Given the description of an element on the screen output the (x, y) to click on. 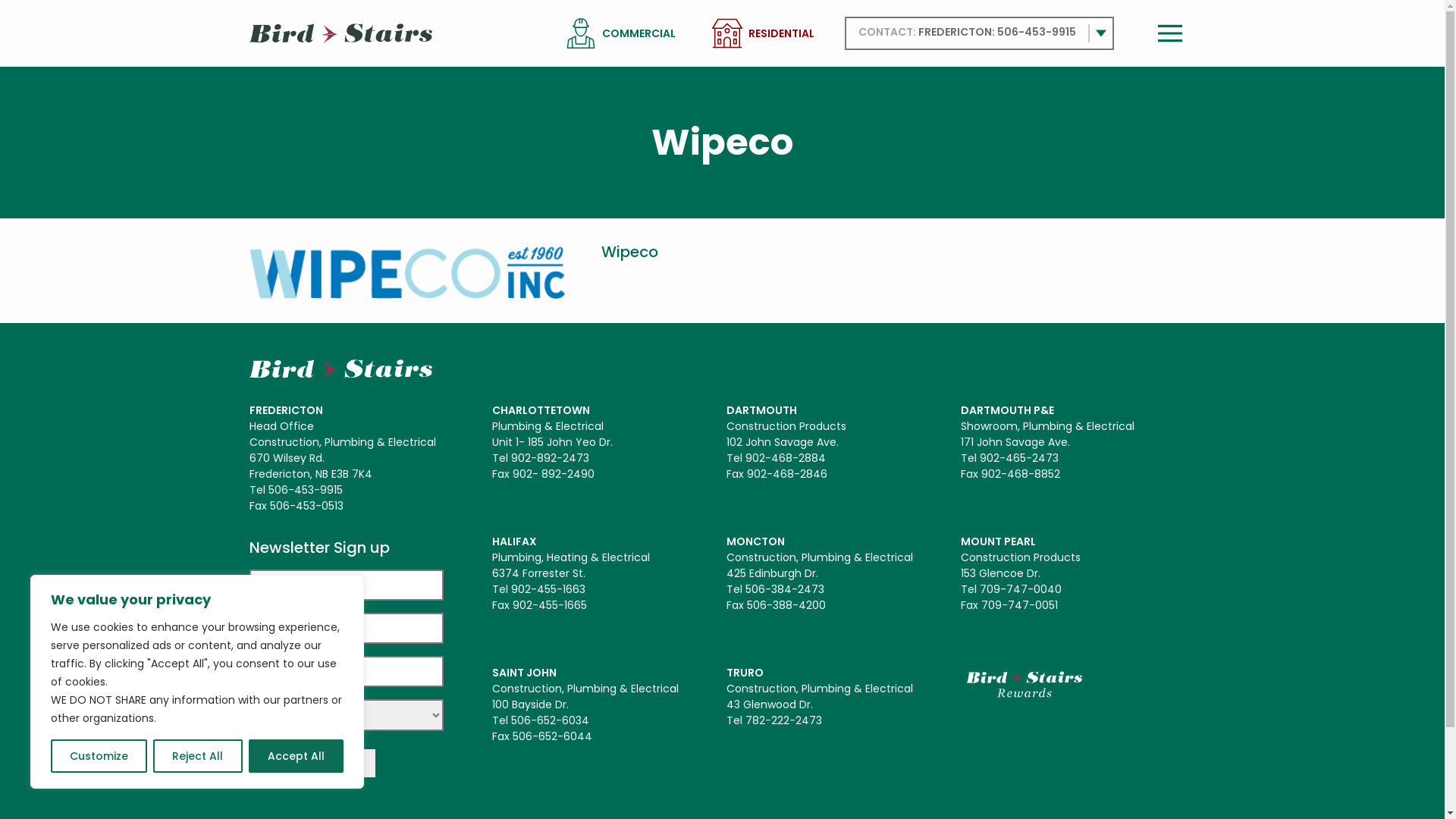
506-384-2473 Element type: text (784, 588)
Subscribe Element type: text (311, 763)
MONCTON Element type: text (755, 541)
506-453-9915 Element type: text (305, 489)
DARTMOUTH Element type: text (761, 409)
FREDERICTON Element type: text (285, 409)
506-652-6034 Element type: text (550, 720)
TRURO Element type: text (744, 672)
902-468-2884 Element type: text (785, 457)
902-465-2473 Element type: text (1018, 457)
Customize Element type: text (98, 755)
CHARLOTTETOWN Element type: text (540, 409)
902-455-1663 Element type: text (548, 588)
Accept All Element type: text (295, 755)
DARTMOUTH P&E Element type: text (1007, 409)
782-222-2473 Element type: text (783, 720)
506-453-9915 Element type: text (1035, 31)
RESIDENTIAL Element type: text (780, 33)
HALIFAX Element type: text (513, 541)
SAINT JOHN Element type: text (523, 672)
902-892-2473 Element type: text (550, 457)
MOUNT PEARL Element type: text (997, 541)
Reject All Element type: text (197, 755)
709-747-0040 Element type: text (1020, 588)
COMMERCIAL Element type: text (638, 33)
